Given the description of an element on the screen output the (x, y) to click on. 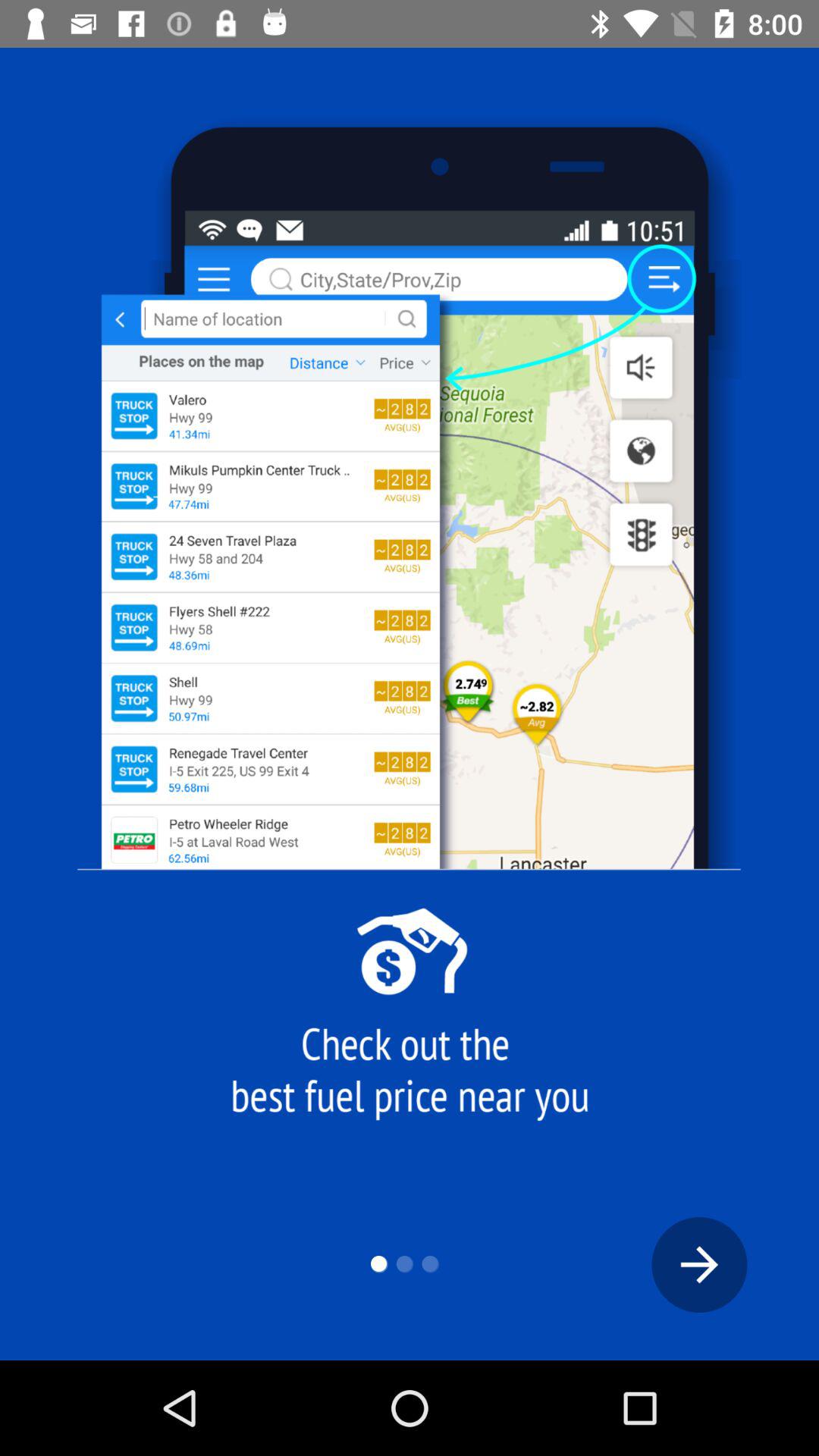
go to next page (699, 1264)
